Given the description of an element on the screen output the (x, y) to click on. 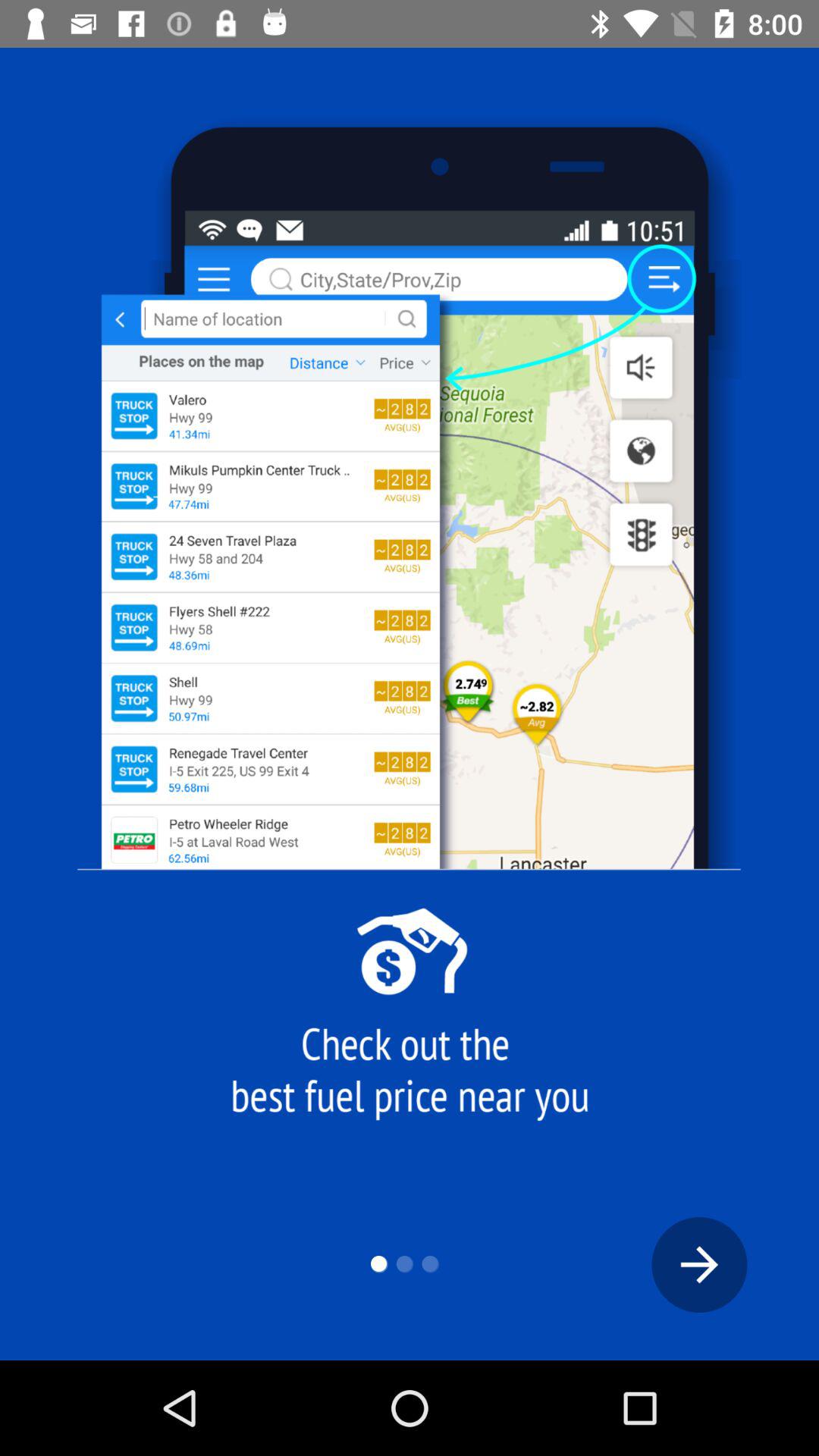
go to next page (699, 1264)
